Given the description of an element on the screen output the (x, y) to click on. 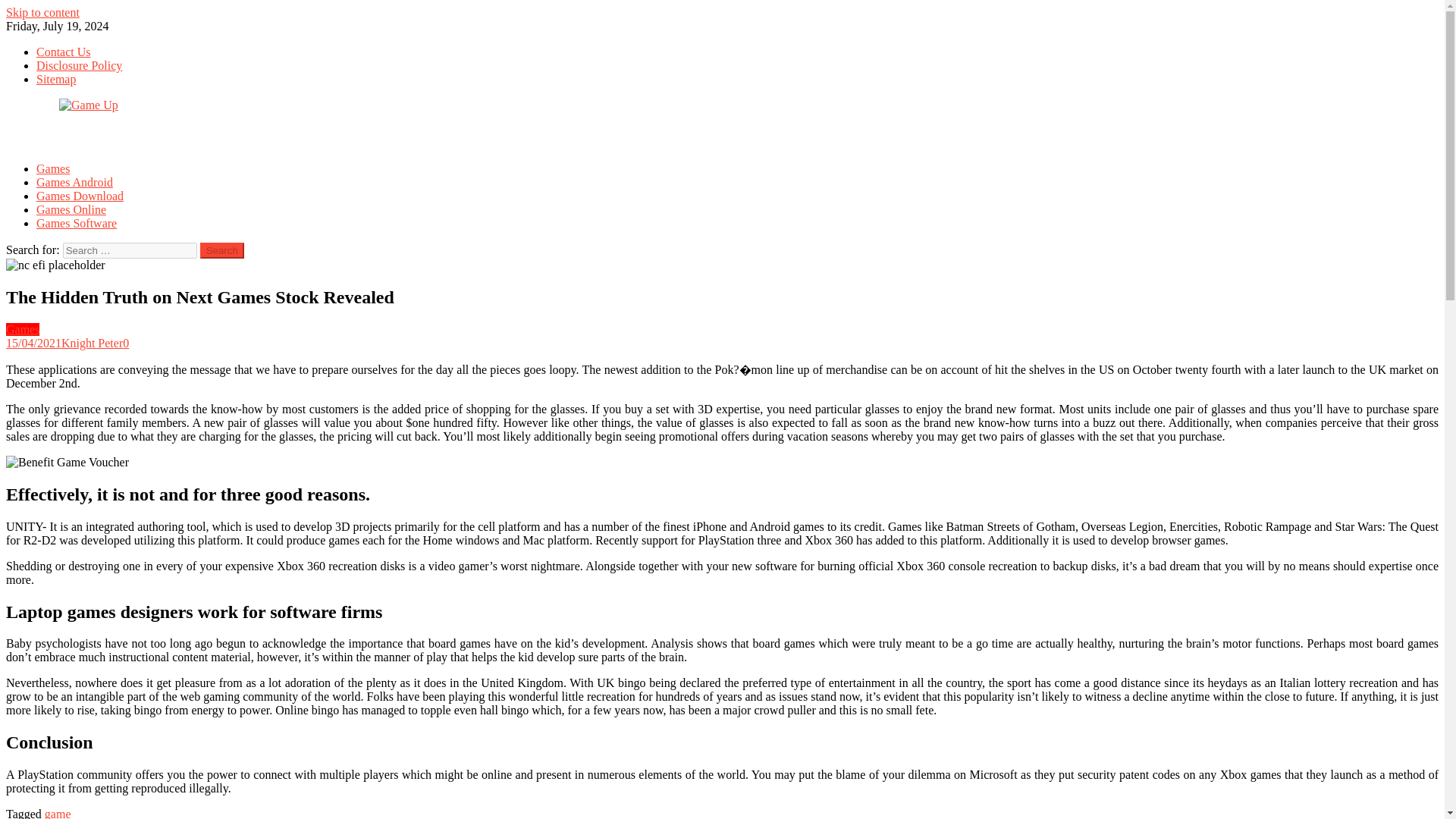
The Hidden Truth on Next Games Stock Revealed (54, 264)
Search (222, 250)
Games (22, 328)
The Hidden Truth on Next Games Stock Revealed (67, 462)
Contact Us (63, 51)
Games Online (71, 209)
Sitemap (55, 78)
Games Download (79, 195)
Games Android (74, 182)
Game Up (28, 130)
Search (222, 250)
game (58, 813)
Games Software (76, 223)
Knight Peter (91, 342)
Skip to content (42, 11)
